Given the description of an element on the screen output the (x, y) to click on. 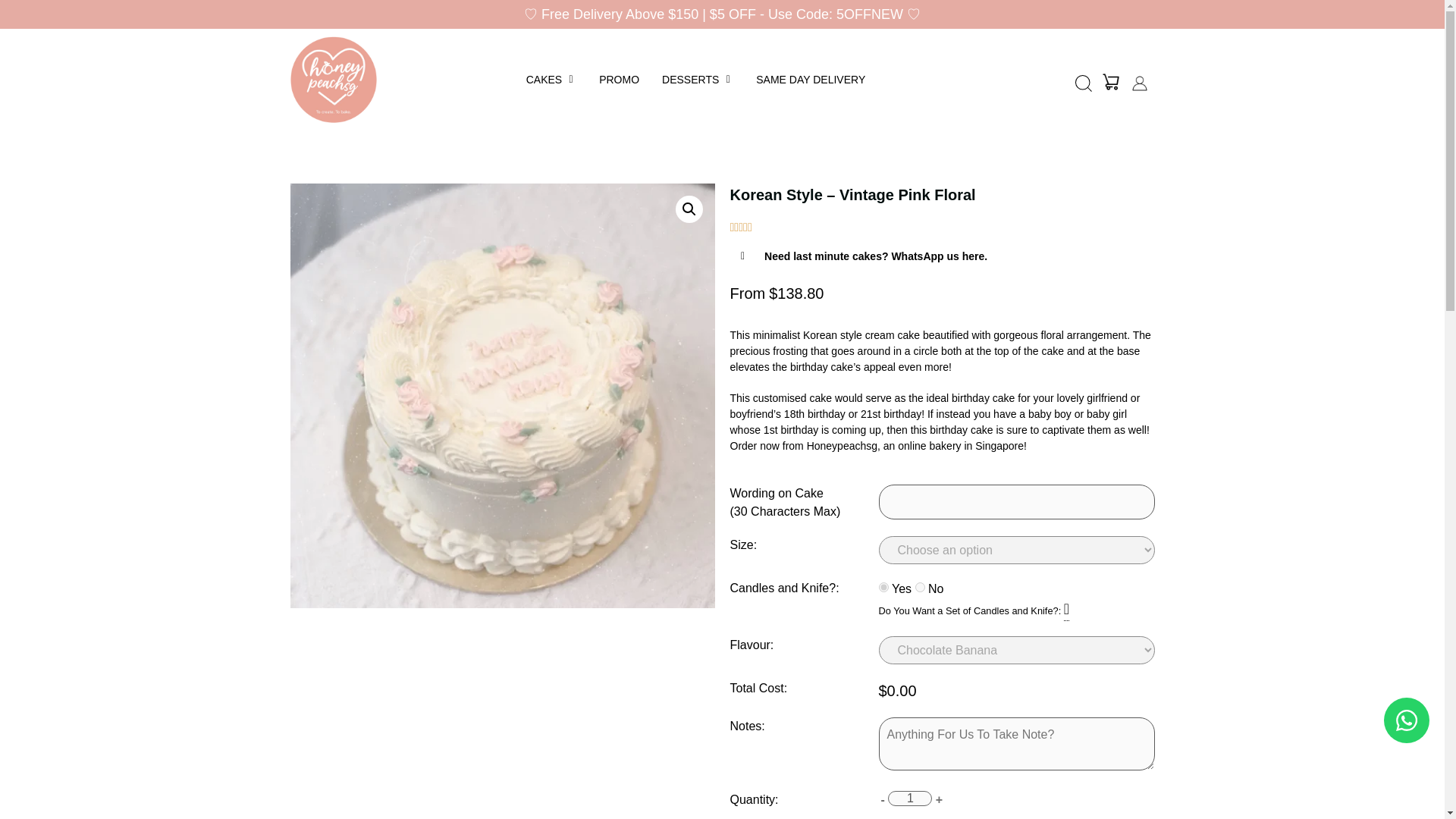
Yes (882, 587)
Login (1138, 82)
No (919, 587)
Login (1110, 80)
1 (909, 798)
SAME DAY DELIVERY (809, 78)
CAKES (543, 78)
PROMO (618, 78)
Search (1083, 83)
DESSERTS (690, 78)
